Given the description of an element on the screen output the (x, y) to click on. 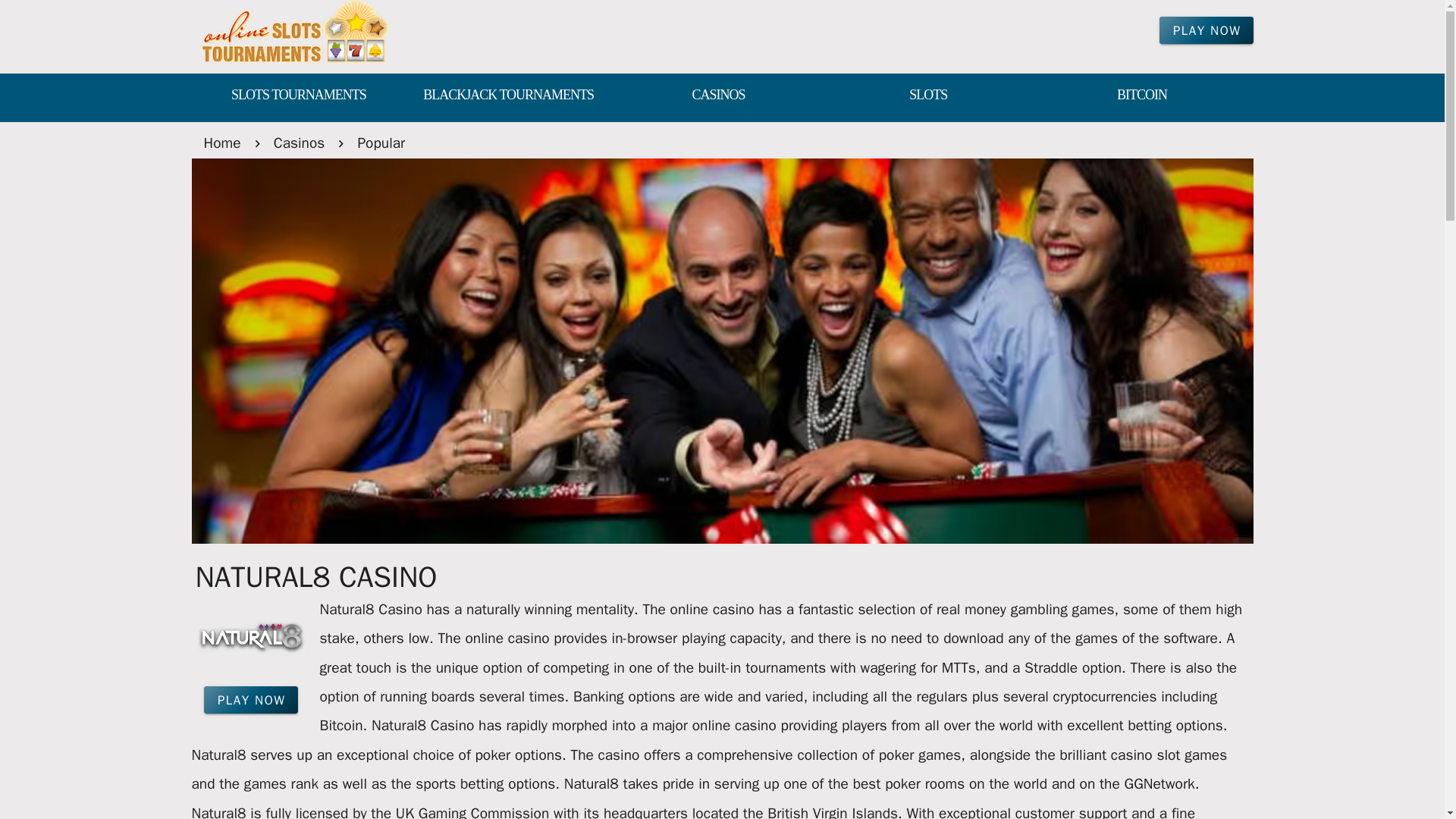
Popular (380, 143)
BITCOIN (1141, 95)
PLAY NOW (1205, 30)
SLOTS (928, 95)
Home (221, 143)
Casinos (298, 143)
PLAY NOW (250, 699)
CASINOS (718, 95)
SLOTS TOURNAMENTS (297, 95)
BLACKJACK TOURNAMENTS (508, 95)
